Given the description of an element on the screen output the (x, y) to click on. 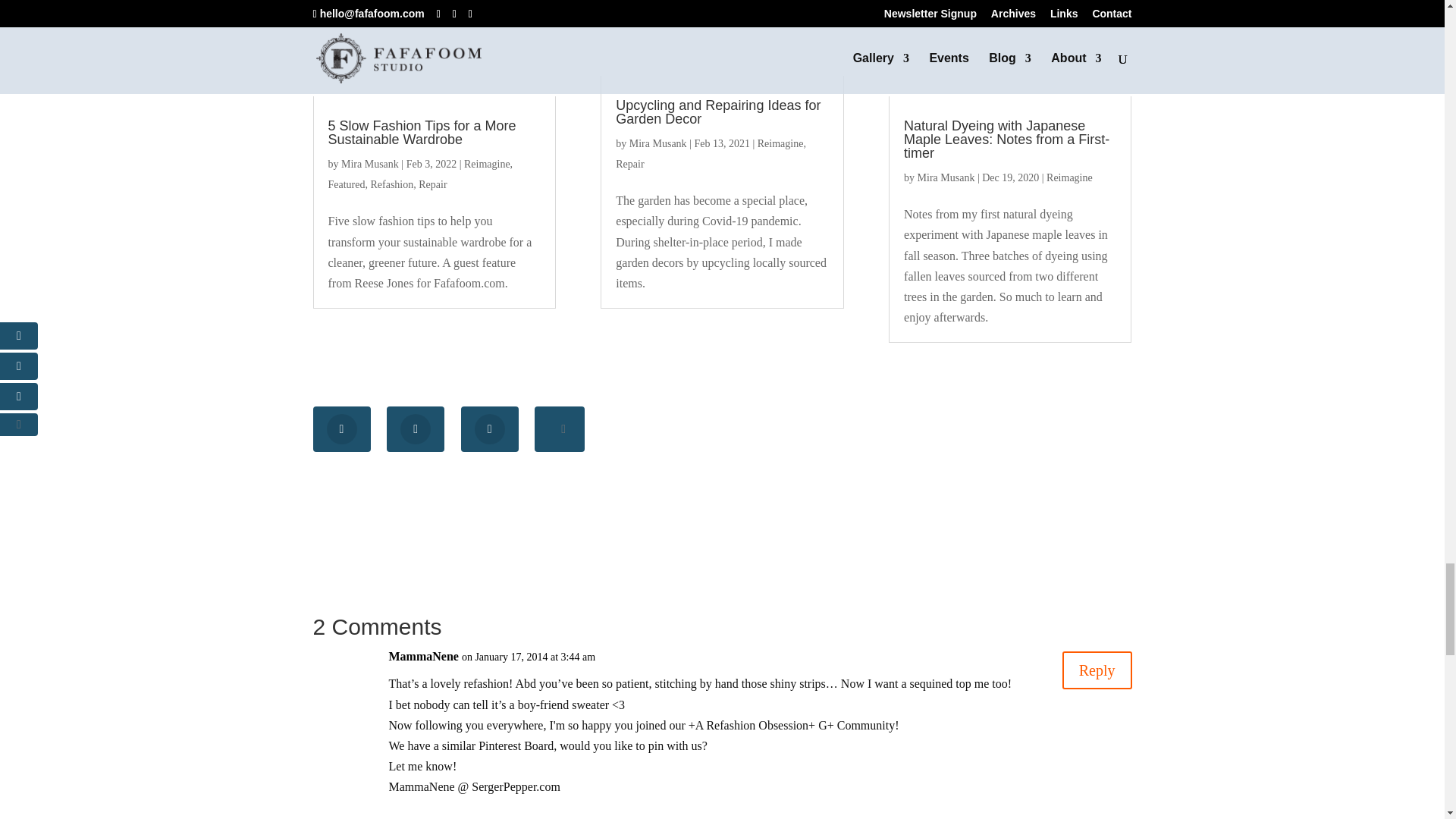
Posts by Mira Musank (369, 163)
Posts by Mira Musank (657, 143)
Posts by Mira Musank (946, 177)
